Given the description of an element on the screen output the (x, y) to click on. 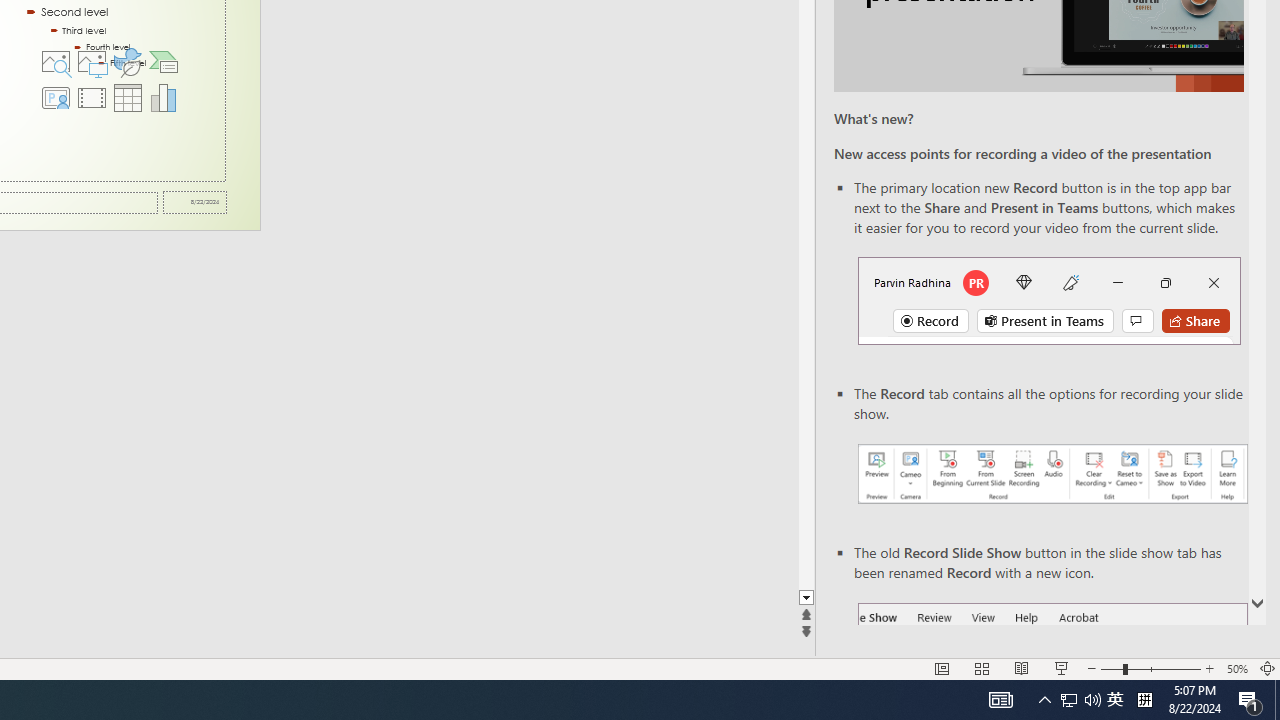
Record your presentations screenshot one (1052, 473)
Date (194, 201)
Insert Cameo (55, 97)
Stock Images (55, 61)
Pictures (91, 61)
Record button in top bar (1049, 300)
Zoom 50% (1236, 668)
Insert Chart (164, 97)
Insert an Icon (127, 61)
